Given the description of an element on the screen output the (x, y) to click on. 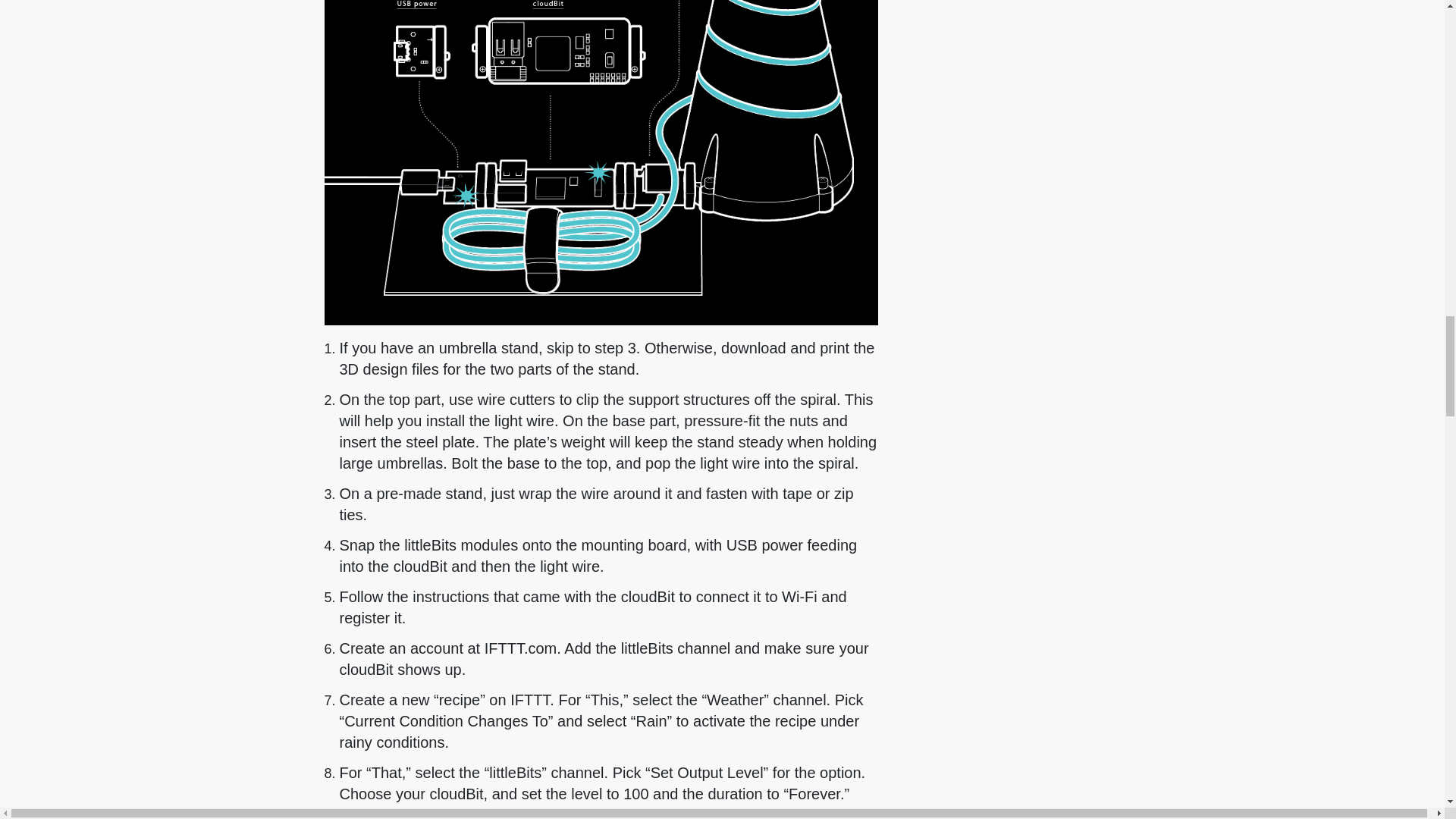
3rd party ad content (1165, 73)
